Given the description of an element on the screen output the (x, y) to click on. 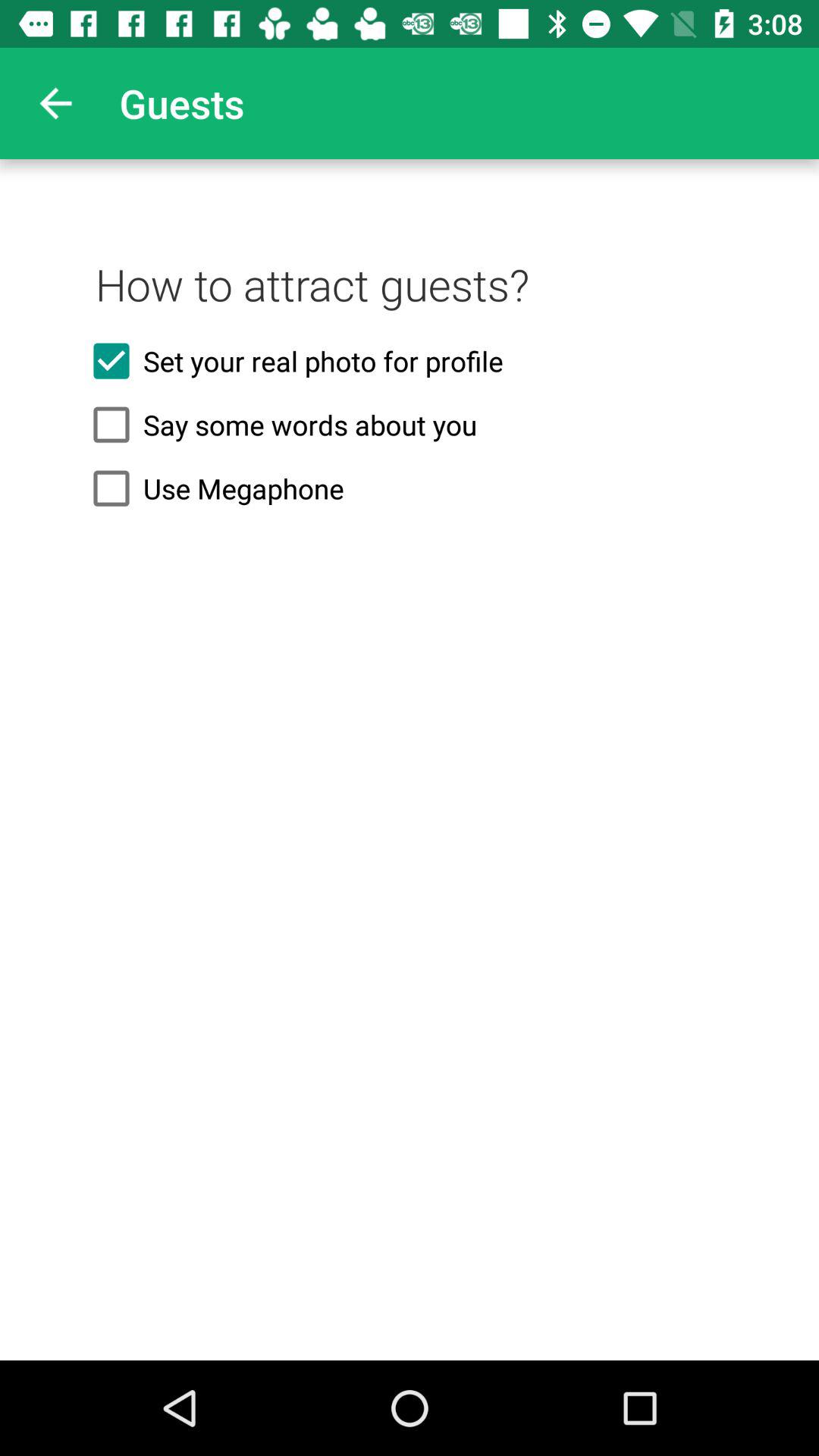
turn off the set your real icon (409, 361)
